Given the description of an element on the screen output the (x, y) to click on. 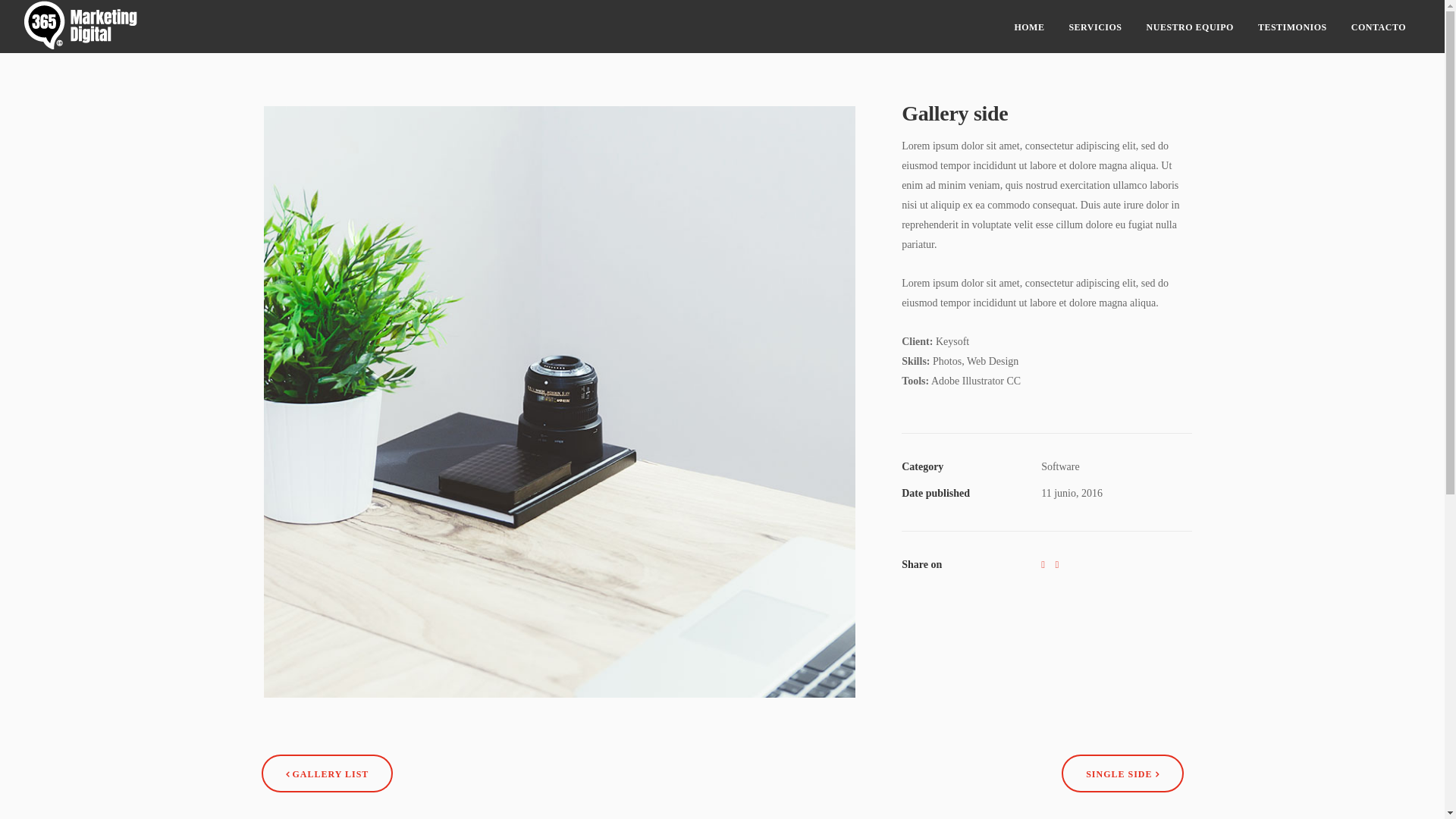
TESTIMONIOS Element type: text (1292, 26)
NUESTRO EQUIPO Element type: text (300, 528)
CONTACTO Element type: text (287, 575)
HOME Element type: text (1028, 26)
SERVICIOS Element type: text (1094, 26)
HOME Element type: text (276, 481)
CONTACTO Element type: text (1378, 26)
GALLERY LIST Element type: text (326, 773)
TESTIMONIOS Element type: text (293, 552)
SERVICIOS Element type: text (286, 505)
NUESTRO EQUIPO Element type: text (1189, 26)
SINGLE SIDE Element type: text (1122, 773)
Gallery side Element type: hover (559, 401)
